Given the description of an element on the screen output the (x, y) to click on. 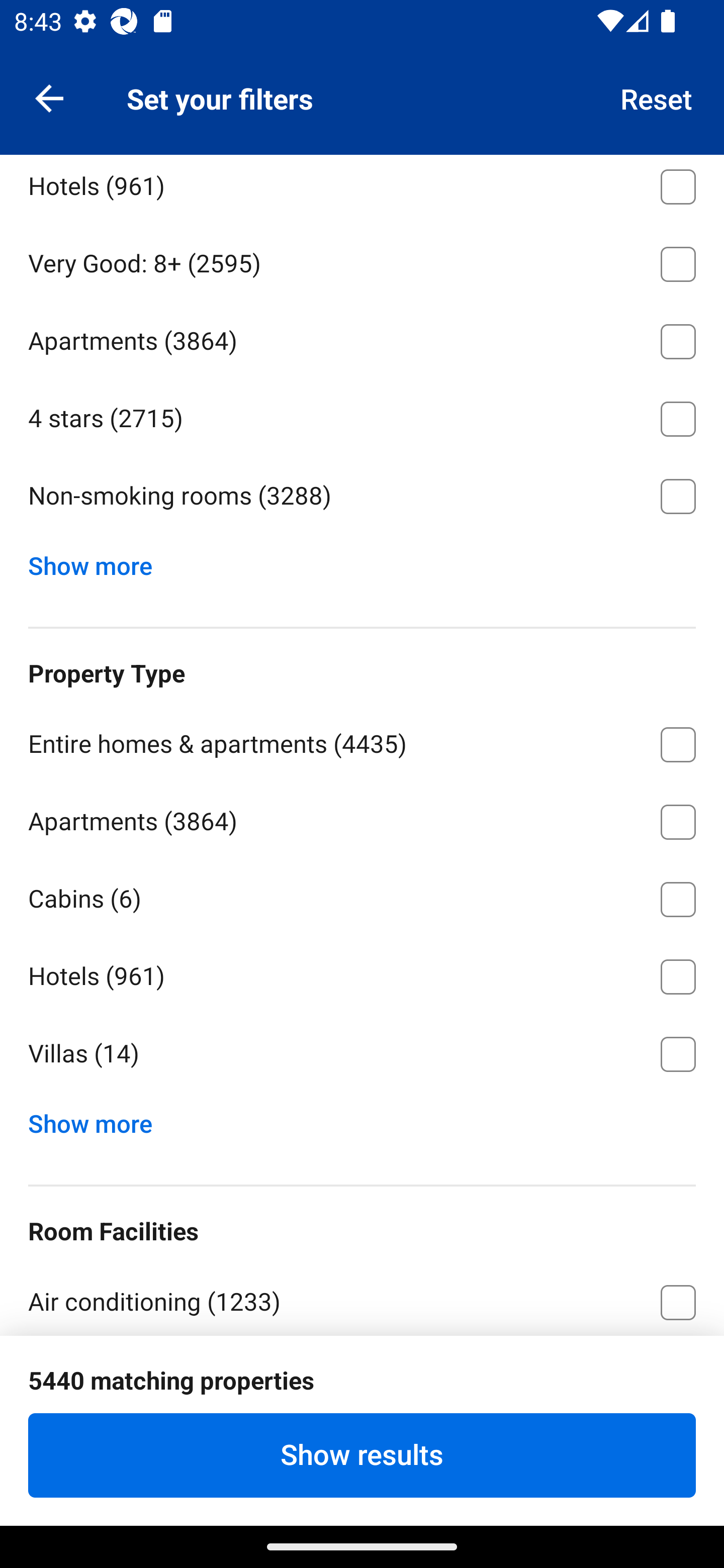
Navigate up (49, 97)
Reset (656, 97)
Hotels ⁦(961) (361, 188)
Very Good: 8+ ⁦(2595) (361, 260)
Apartments ⁦(3864) (361, 337)
4 stars ⁦(2715) (361, 415)
Non-smoking rooms ⁦(3288) (361, 496)
Show more (97, 561)
Entire homes & apartments ⁦(4435) (361, 740)
Apartments ⁦(3864) (361, 818)
Cabins ⁦(6) (361, 895)
Hotels ⁦(961) (361, 973)
Villas ⁦(14) (361, 1054)
Show more (97, 1119)
Air conditioning ⁦(1233) (361, 1297)
Private bathroom ⁦(3698) (361, 1376)
Show results (361, 1454)
